Given the description of an element on the screen output the (x, y) to click on. 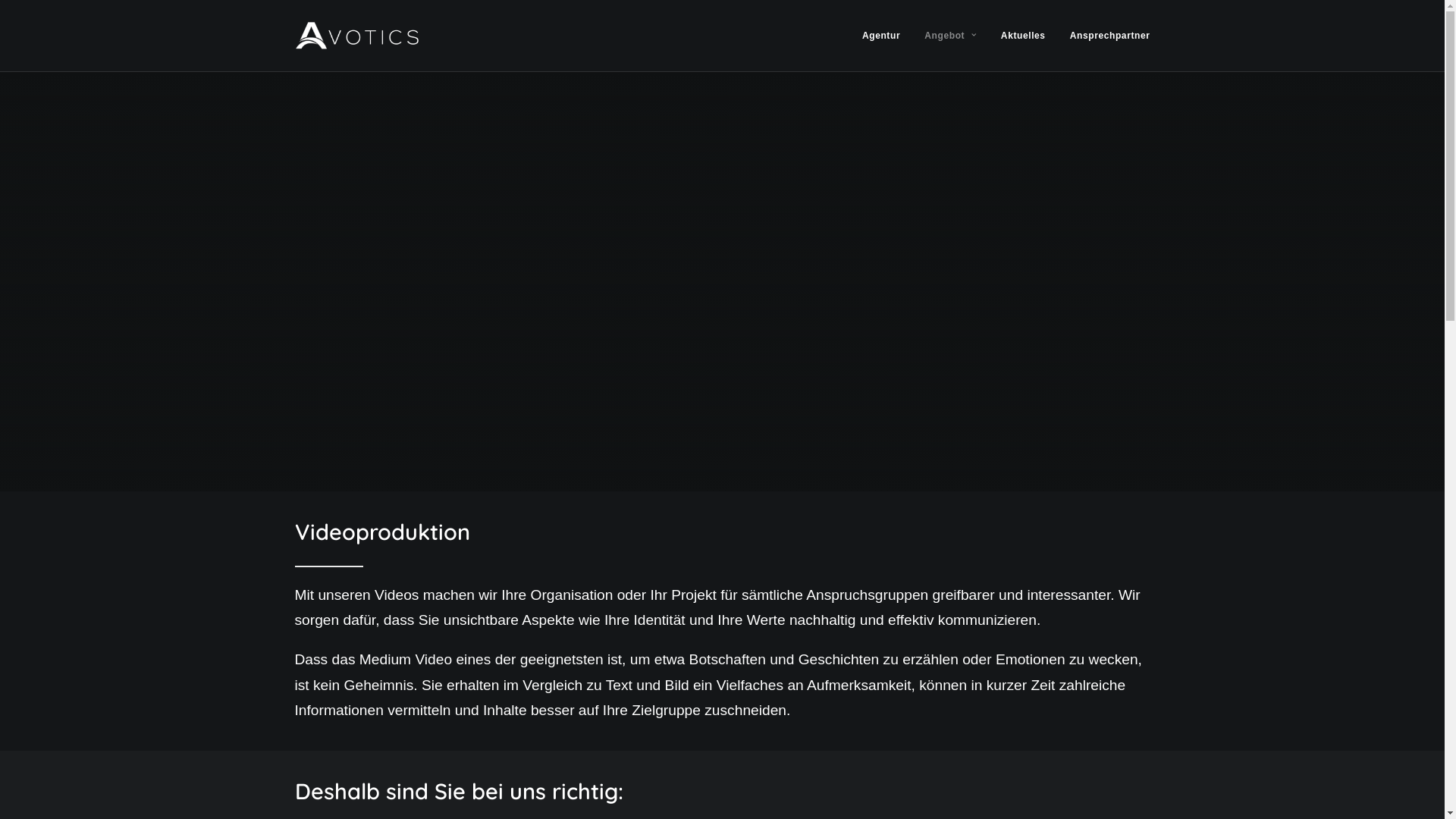
Ansprechpartner Element type: text (1104, 35)
Agentur Element type: text (886, 35)
Aktuelles Element type: text (1023, 35)
Angebot Element type: text (949, 35)
